Given the description of an element on the screen output the (x, y) to click on. 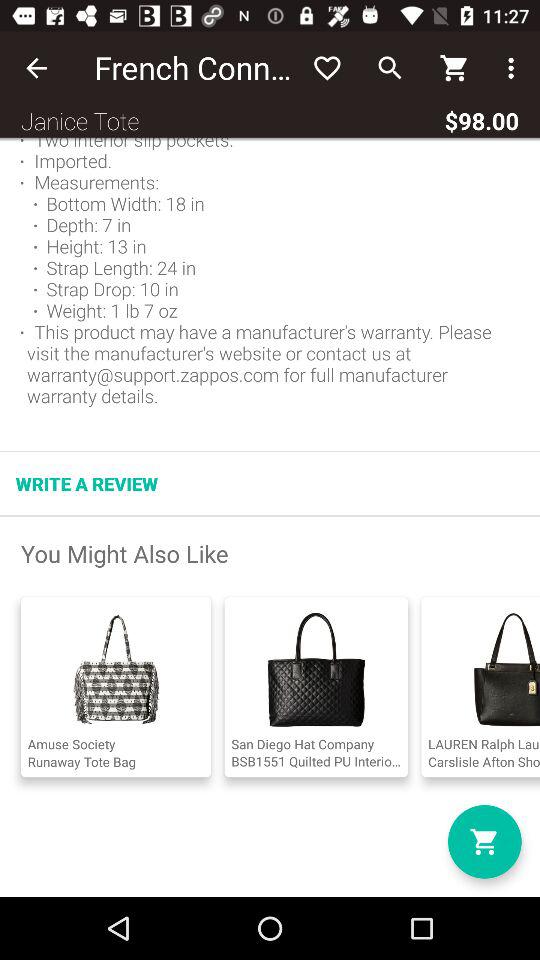
choose item to the left of the french connection item (36, 68)
